Given the description of an element on the screen output the (x, y) to click on. 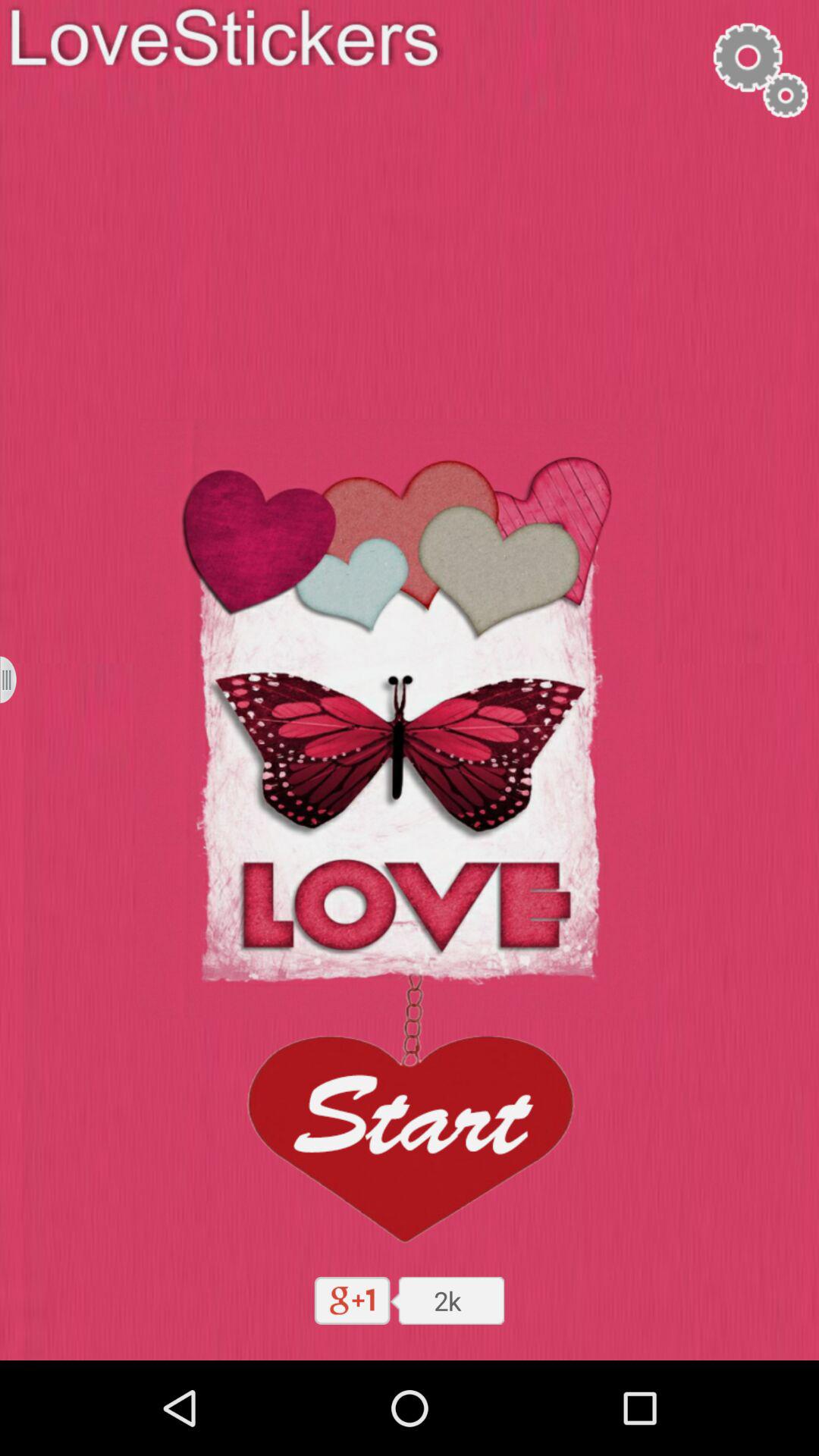
press to start (409, 1113)
